Given the description of an element on the screen output the (x, y) to click on. 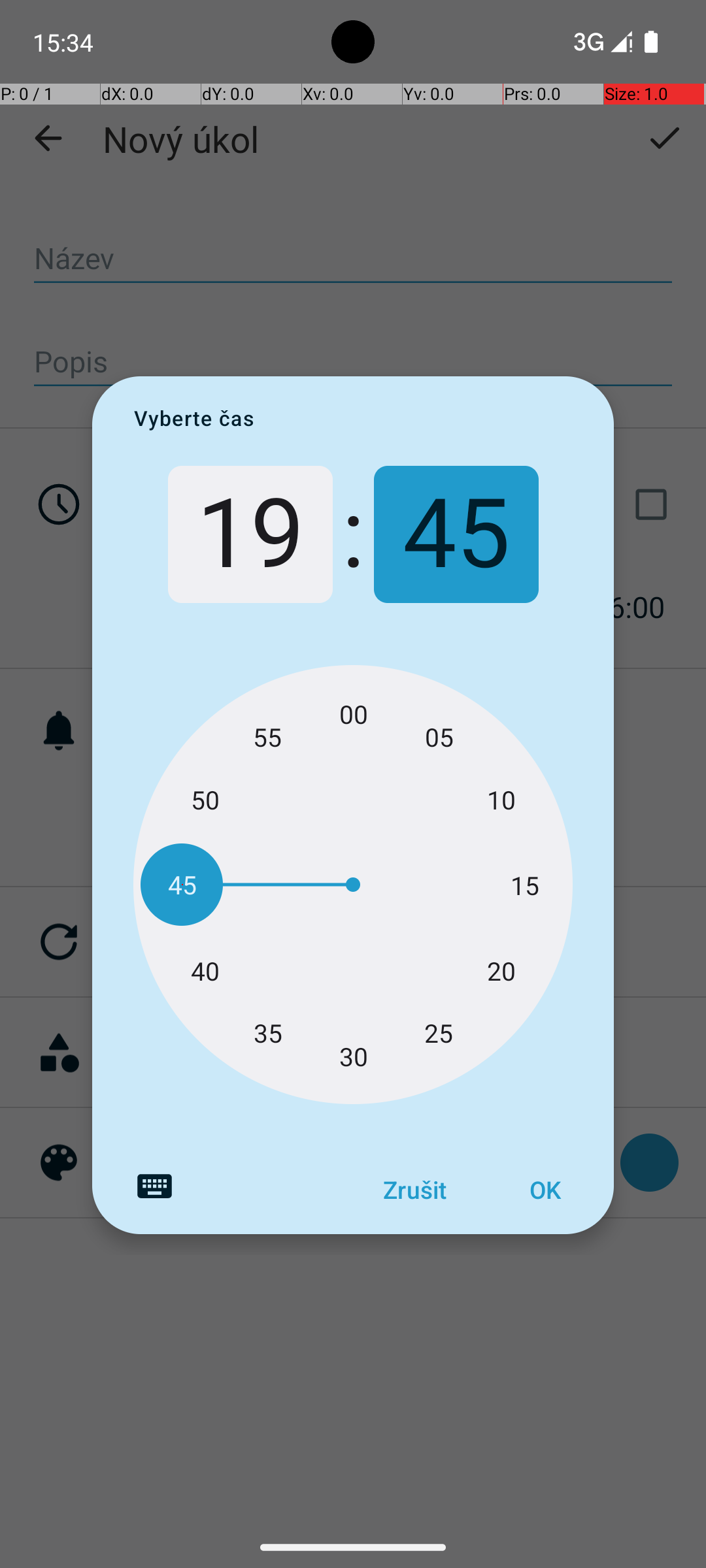
Chcete-li zadat čas, přepněte na režim textu. Element type: android.widget.Button (154, 1186)
Zrušit Element type: android.widget.Button (414, 1189)
